Given the description of an element on the screen output the (x, y) to click on. 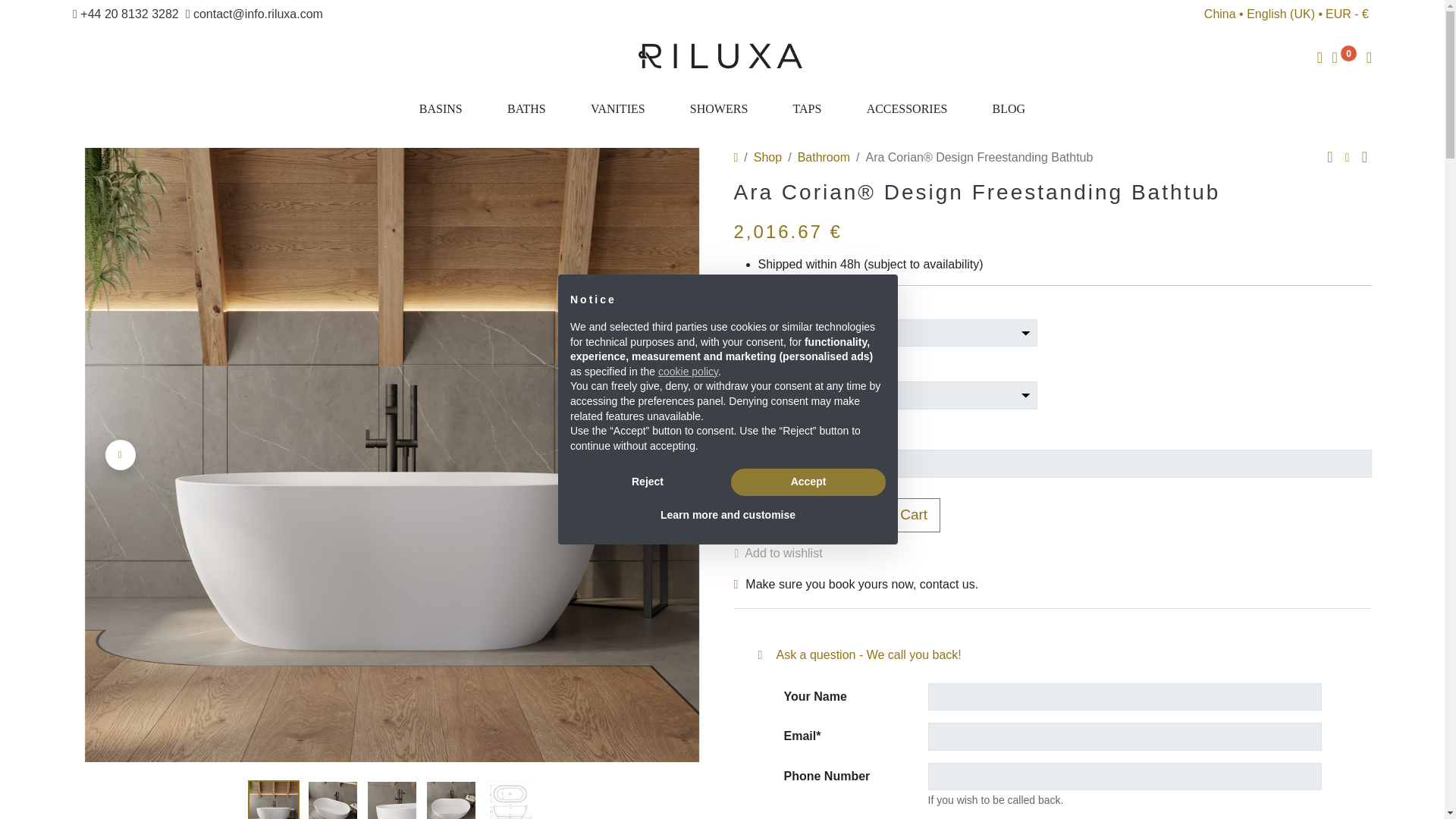
1 (780, 514)
